Given the description of an element on the screen output the (x, y) to click on. 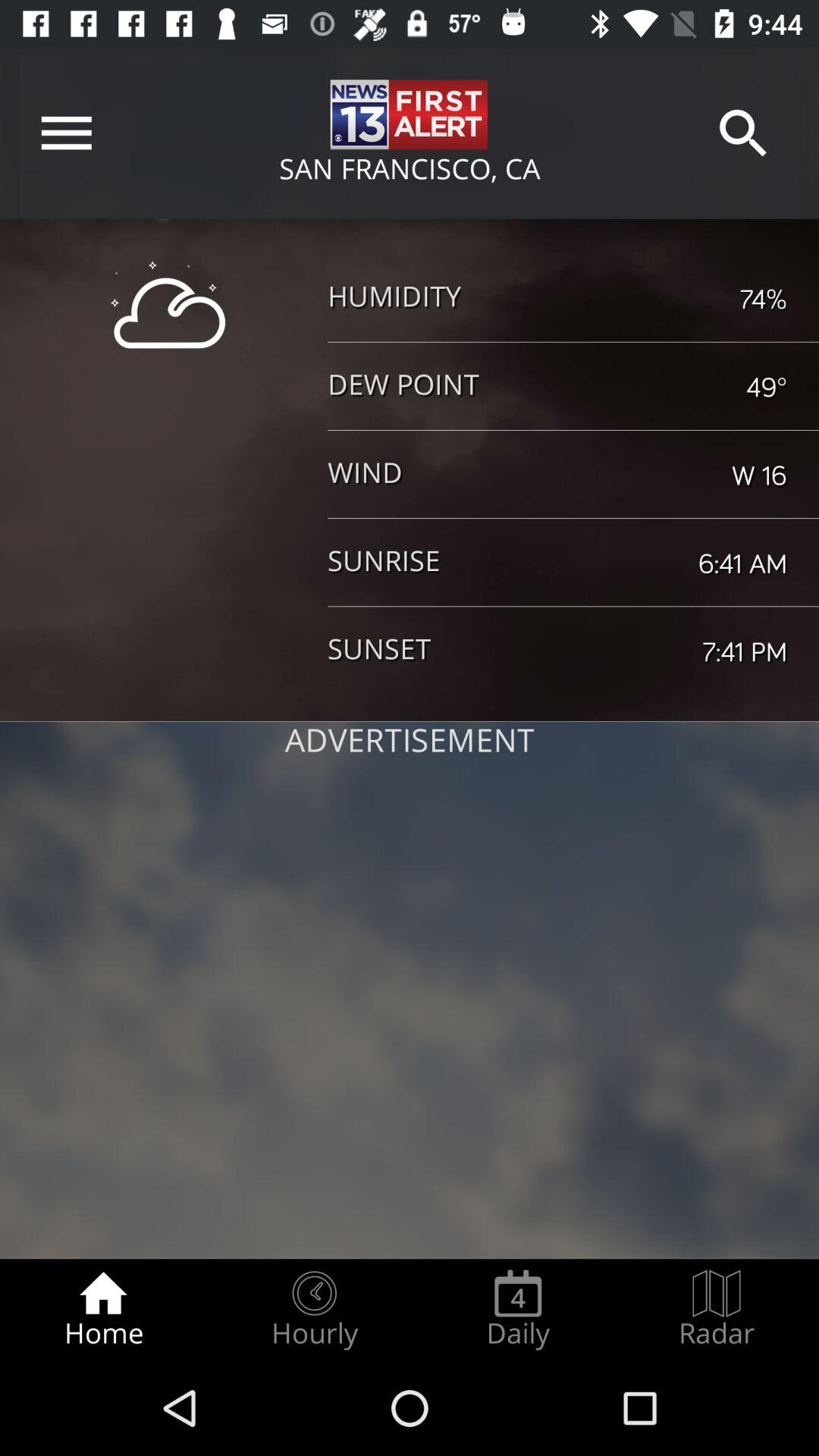
click item next to the hourly (103, 1309)
